Given the description of an element on the screen output the (x, y) to click on. 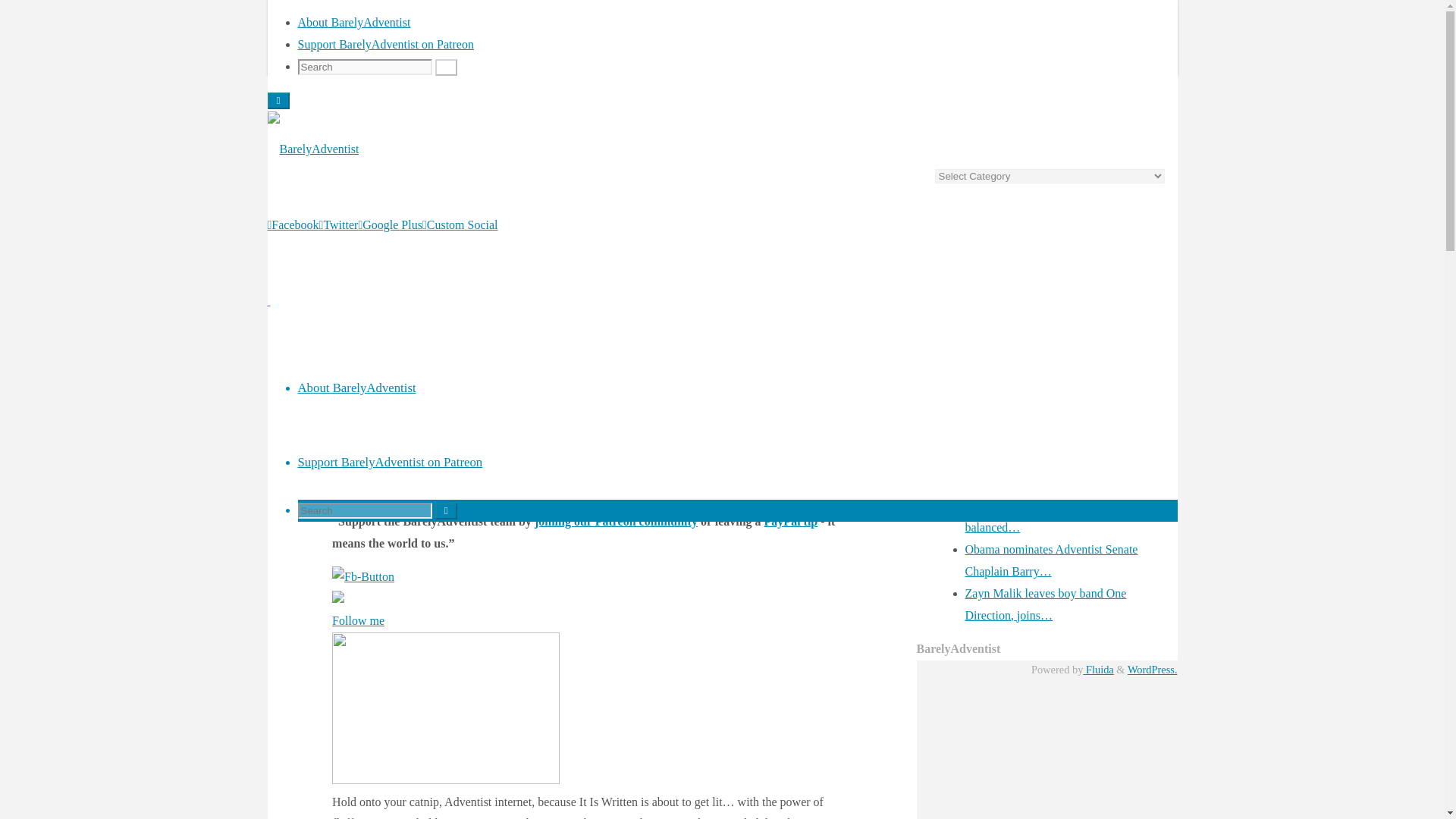
It Is Written: Cat Videos Are the Future of Evangelism (404, 295)
joining our Patreon community (615, 521)
sevvy (362, 499)
click bait (608, 499)
Google Plus (390, 224)
About BarelyAdventist (353, 21)
Evangelism (387, 107)
Home (337, 107)
Search (446, 67)
View all posts by sevvy (362, 499)
viral (837, 499)
Custom Social (459, 224)
Semantic Personal Publishing Platform (1151, 669)
Follow me (357, 620)
About BarelyAdventist (355, 387)
